Given the description of an element on the screen output the (x, y) to click on. 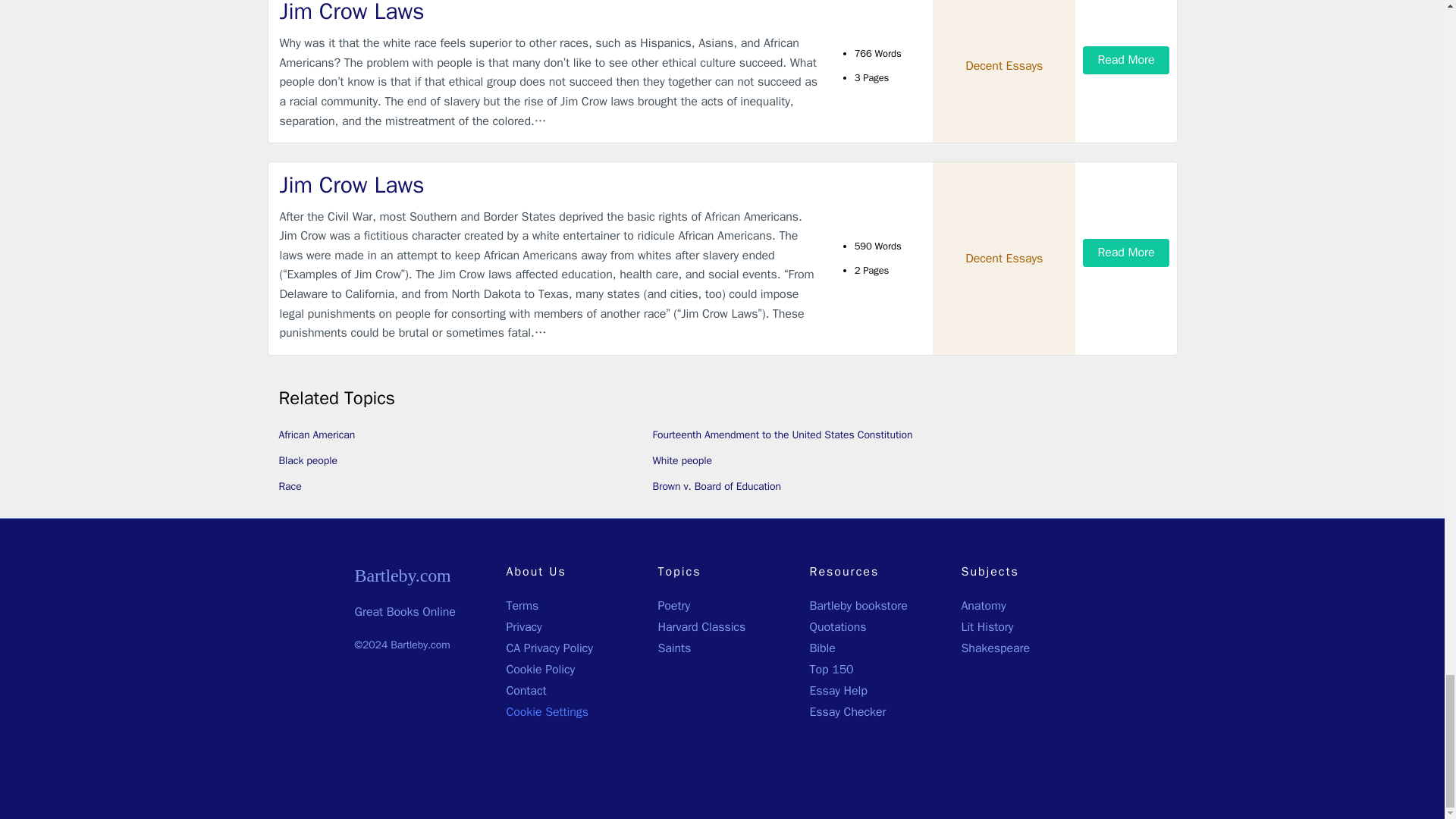
African American (317, 434)
Fourteenth Amendment to the United States Constitution (782, 434)
White people (681, 460)
Race (290, 486)
Brown v. Board of Education (716, 486)
Black people (308, 460)
